Given the description of an element on the screen output the (x, y) to click on. 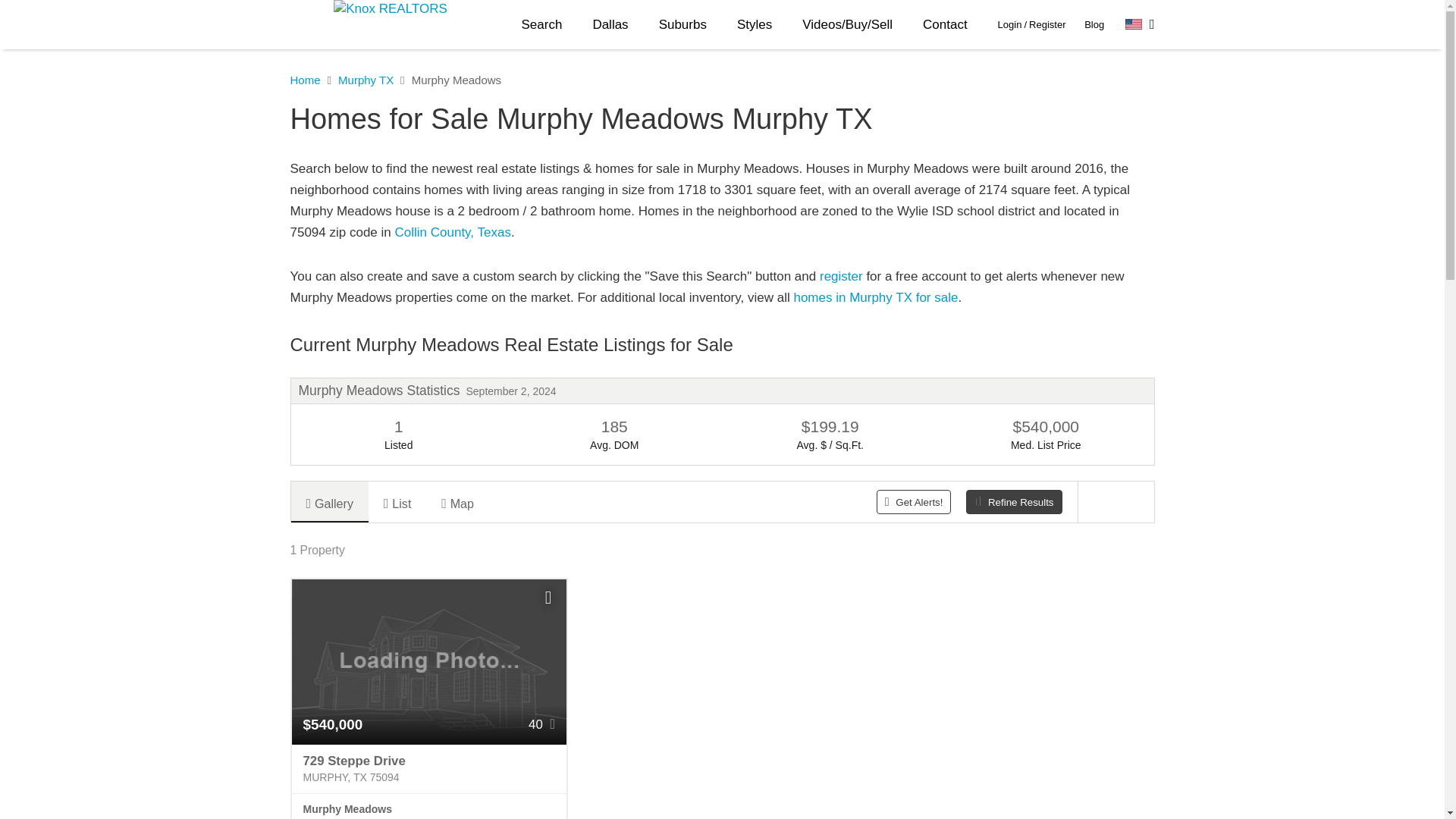
Search (542, 24)
homes in Murphy TX for sale (875, 297)
Dallas (609, 24)
729 Steppe Drive Murphy,  TX 75094 (428, 768)
homes in collin county, texas for sale (452, 232)
Select Language (1139, 24)
Suburbs (682, 24)
register (841, 276)
